Given the description of an element on the screen output the (x, y) to click on. 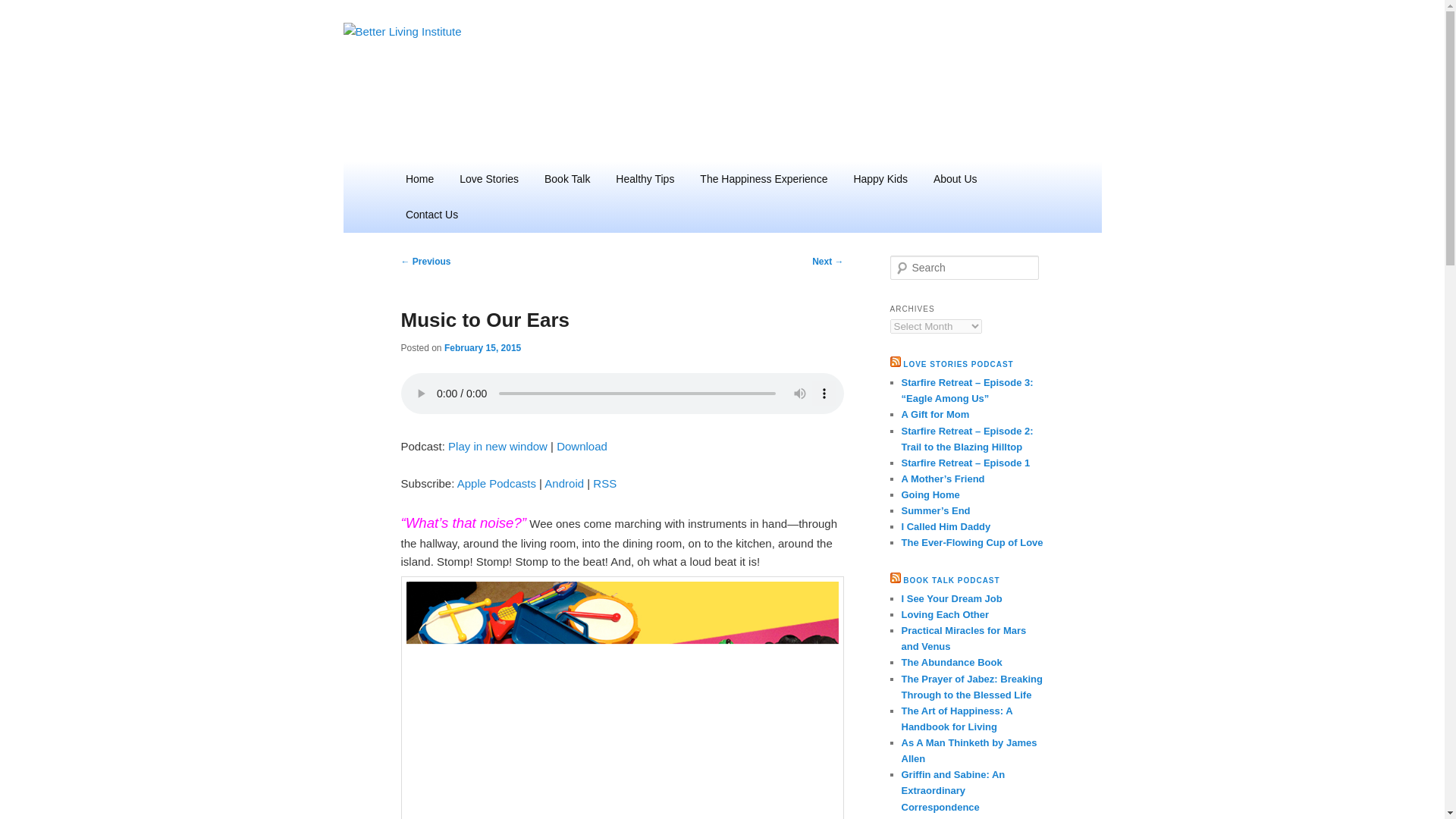
Love Stories (488, 179)
Subscribe on Apple Podcasts (496, 482)
The Happiness Experience (763, 179)
A Gift for Mom (935, 414)
Better Living Institute (516, 77)
Happy Kids (880, 179)
Subscribe on Android (563, 482)
Going Home (930, 494)
February 15, 2015 (482, 347)
Book Talk (566, 179)
